Given the description of an element on the screen output the (x, y) to click on. 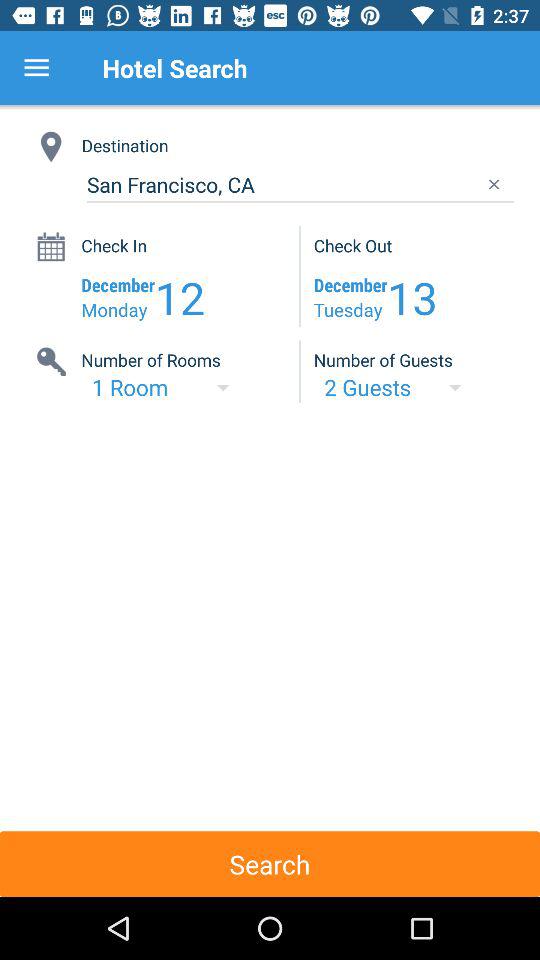
open icon below the destination item (300, 184)
